Given the description of an element on the screen output the (x, y) to click on. 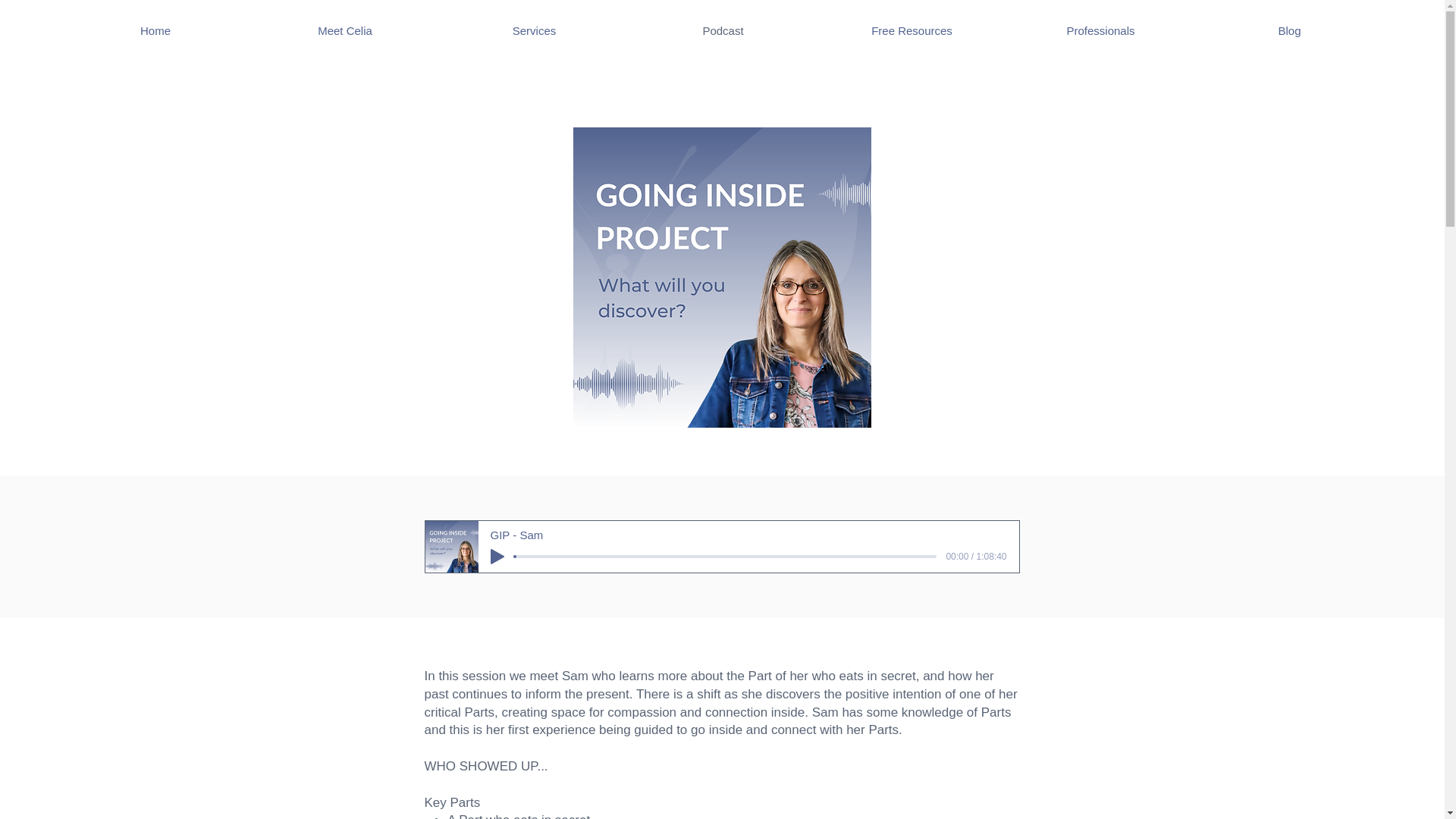
Free Resources (911, 30)
Services (533, 30)
Blog (1289, 30)
Professionals (1100, 30)
Home (155, 30)
0 (724, 556)
Meet Celia (344, 30)
Podcast (722, 30)
